Given the description of an element on the screen output the (x, y) to click on. 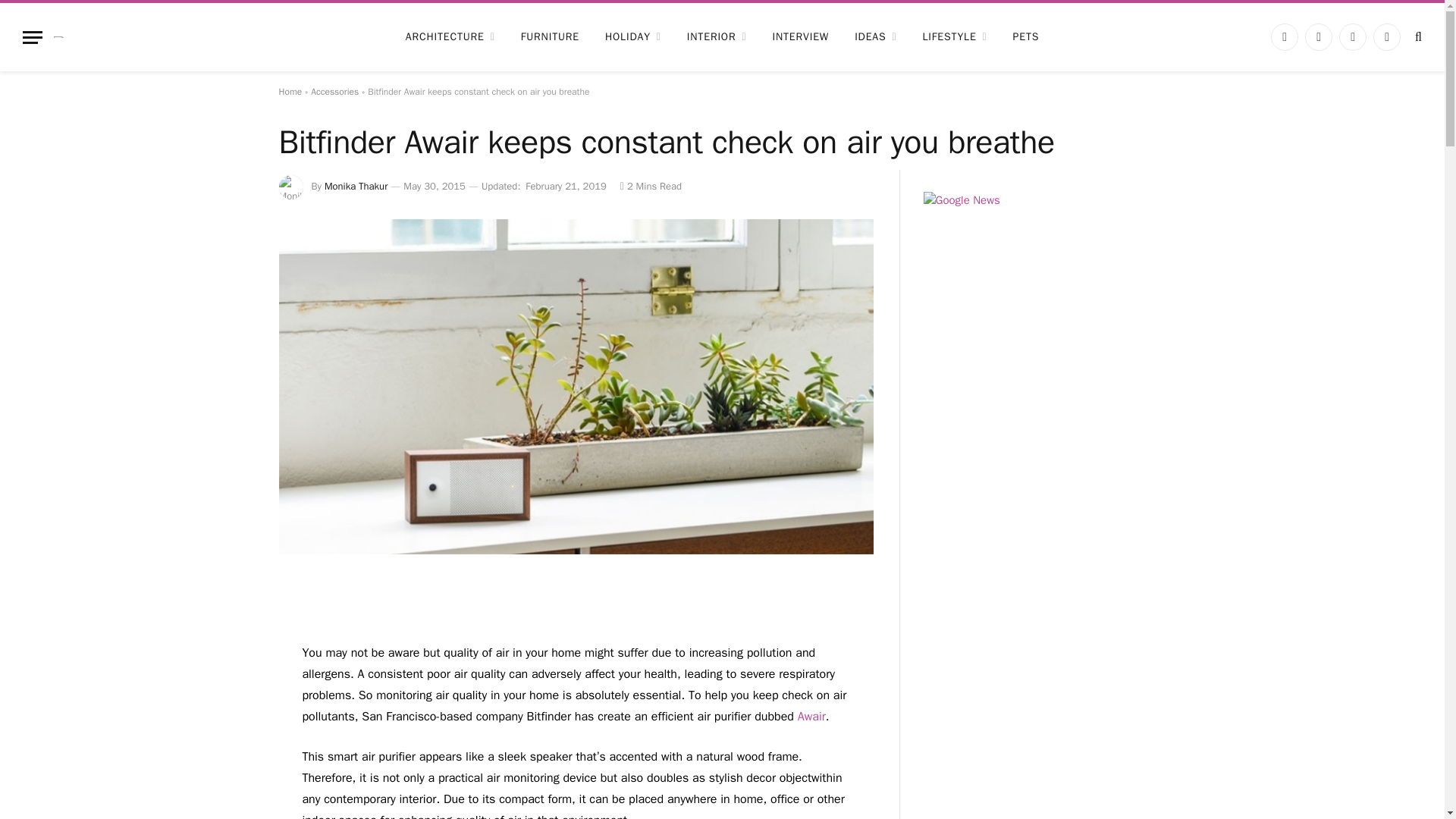
Homecrux (68, 36)
